Given the description of an element on the screen output the (x, y) to click on. 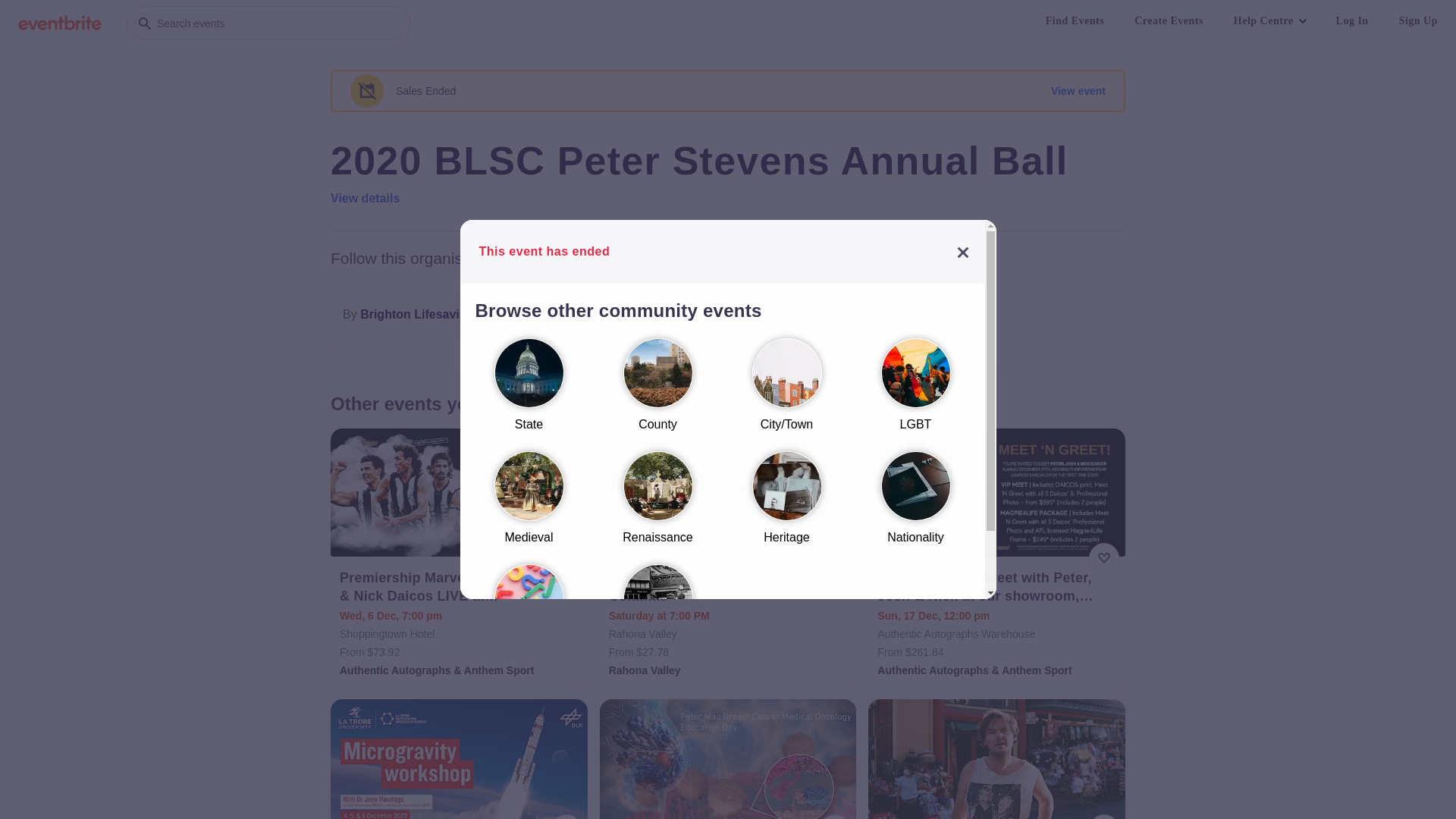
Peter Allen LIVE in Inverted Commas Element type: text (729, 586)
LGBT Element type: text (914, 391)
Heritage Element type: text (785, 504)
Create Events Element type: text (1168, 21)
Log In Element type: text (1352, 21)
View event Element type: text (1078, 90)
State Element type: text (528, 391)
County Element type: text (657, 391)
Historic Element type: text (657, 617)
Eventbrite Element type: hover (59, 22)
Renaissance Element type: text (657, 504)
Search events Element type: text (268, 22)
Language Element type: text (528, 617)
Nationality Element type: text (914, 504)
Find Events Element type: text (1074, 21)
Medieval Element type: text (528, 504)
Sign Up Element type: text (1417, 21)
View details Element type: text (364, 198)
City/Town Element type: text (785, 391)
Follow Element type: text (557, 314)
